Given the description of an element on the screen output the (x, y) to click on. 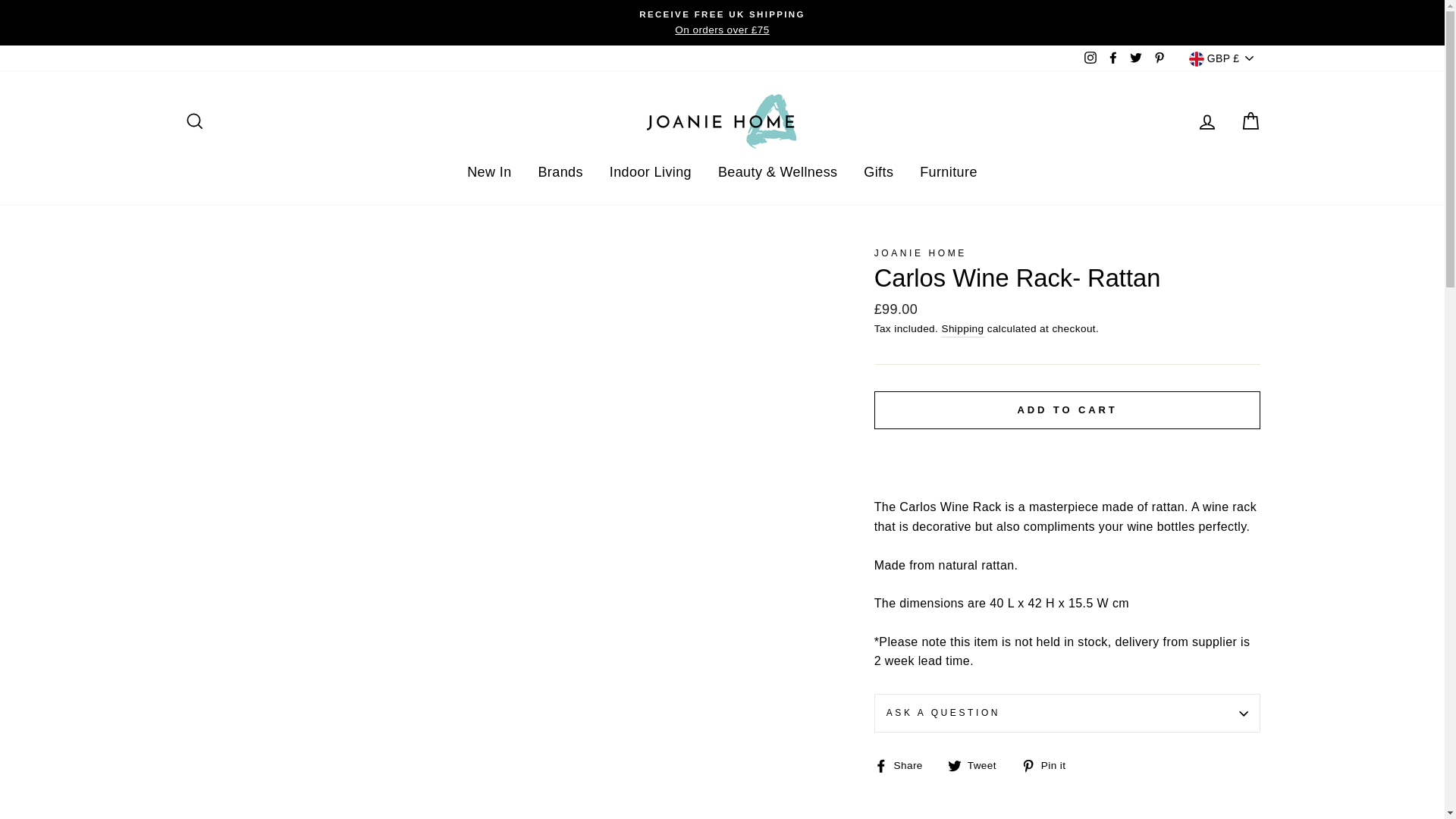
Share on Facebook (904, 764)
Pin on Pinterest (1049, 764)
Tweet on Twitter (977, 764)
